Given the description of an element on the screen output the (x, y) to click on. 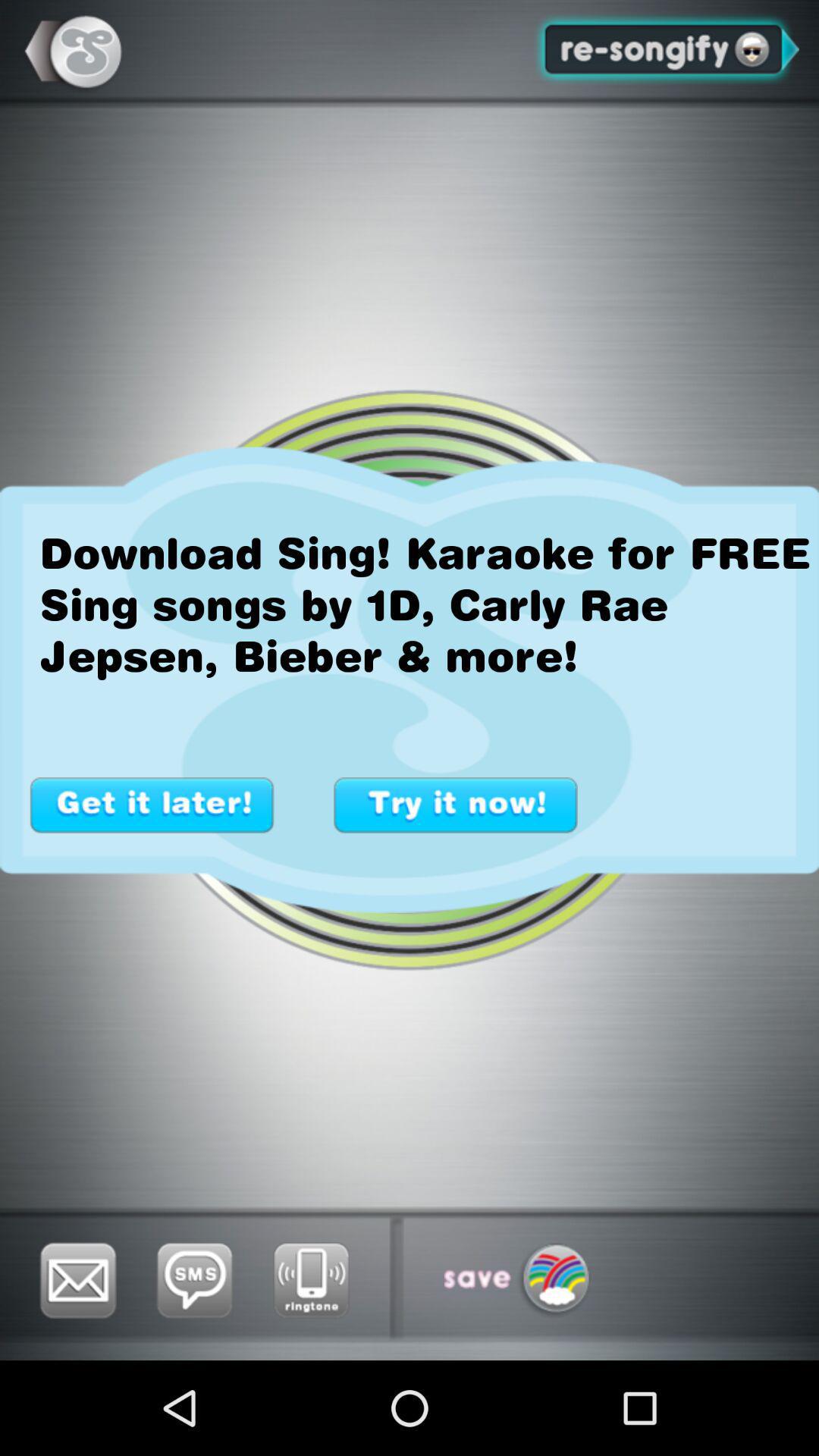
get it leter button (152, 805)
